Given the description of an element on the screen output the (x, y) to click on. 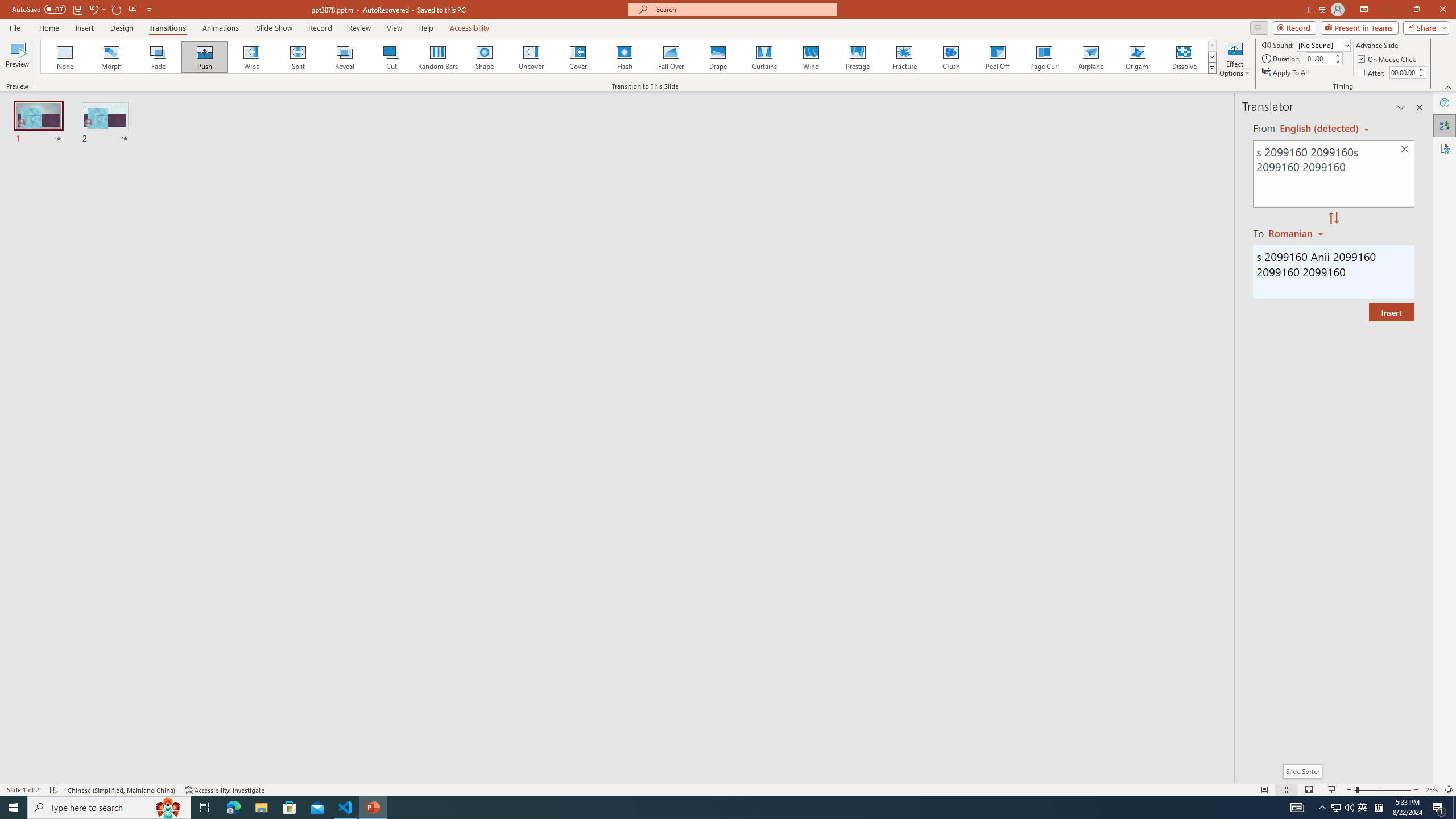
Peel Off (997, 56)
Fade (158, 56)
Romanian (1296, 232)
Fracture (903, 56)
